Given the description of an element on the screen output the (x, y) to click on. 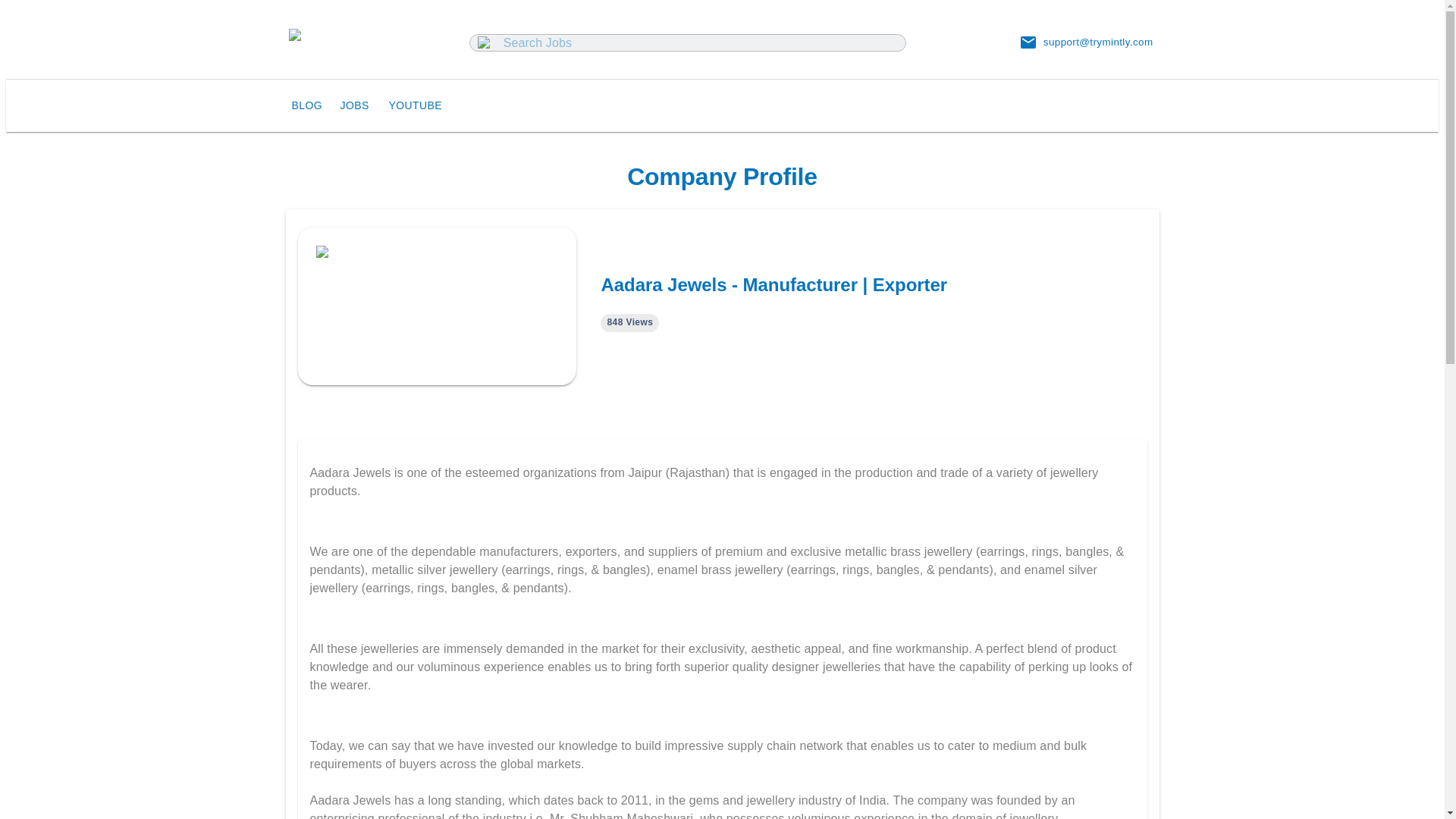
YOUTUBE (413, 105)
BLOG (309, 105)
JOBS (357, 105)
